Given the description of an element on the screen output the (x, y) to click on. 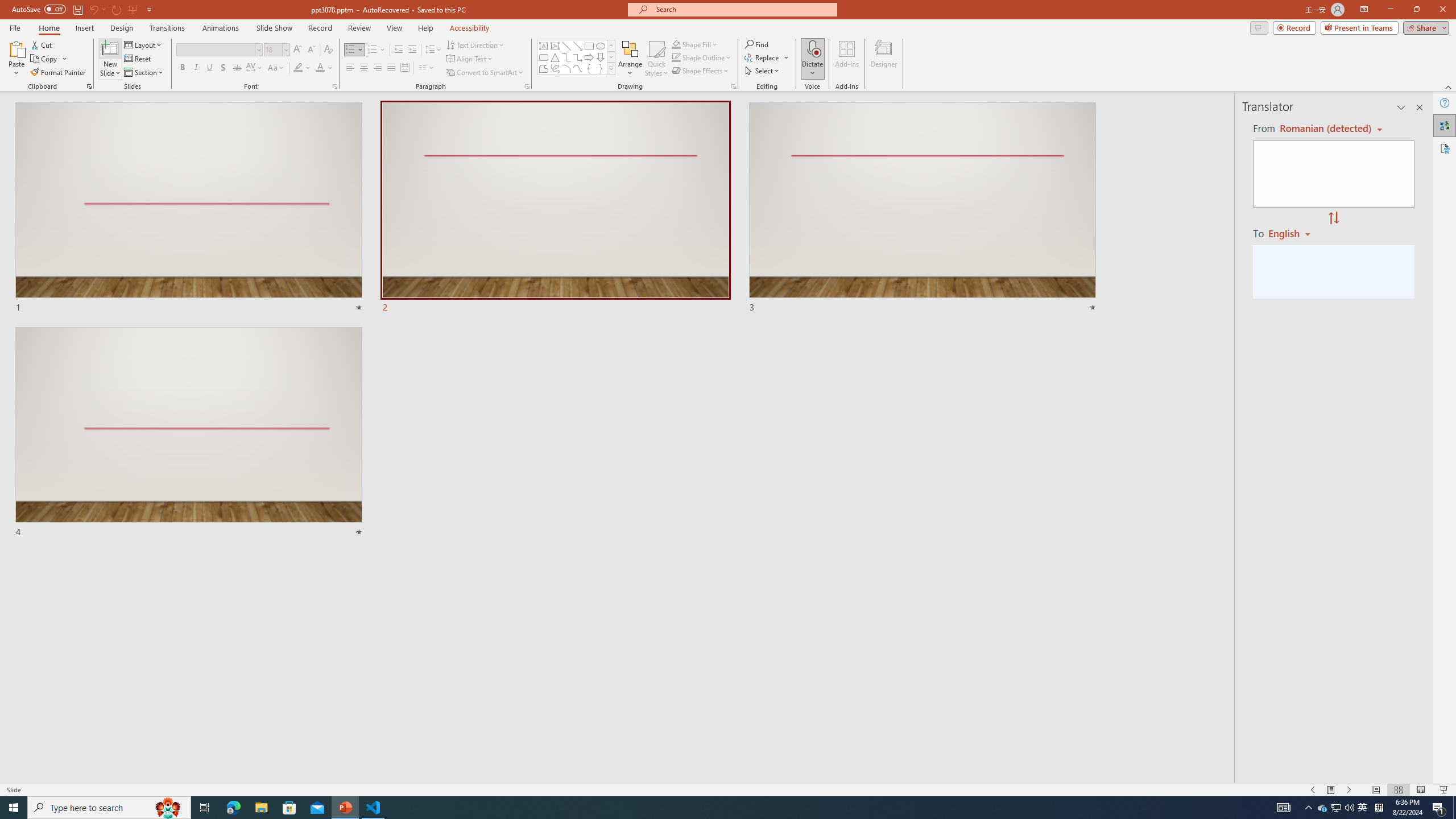
Arrow: Down (600, 57)
Columns (426, 67)
Font... (334, 85)
Arrow: Right (589, 57)
Shadow (223, 67)
